Given the description of an element on the screen output the (x, y) to click on. 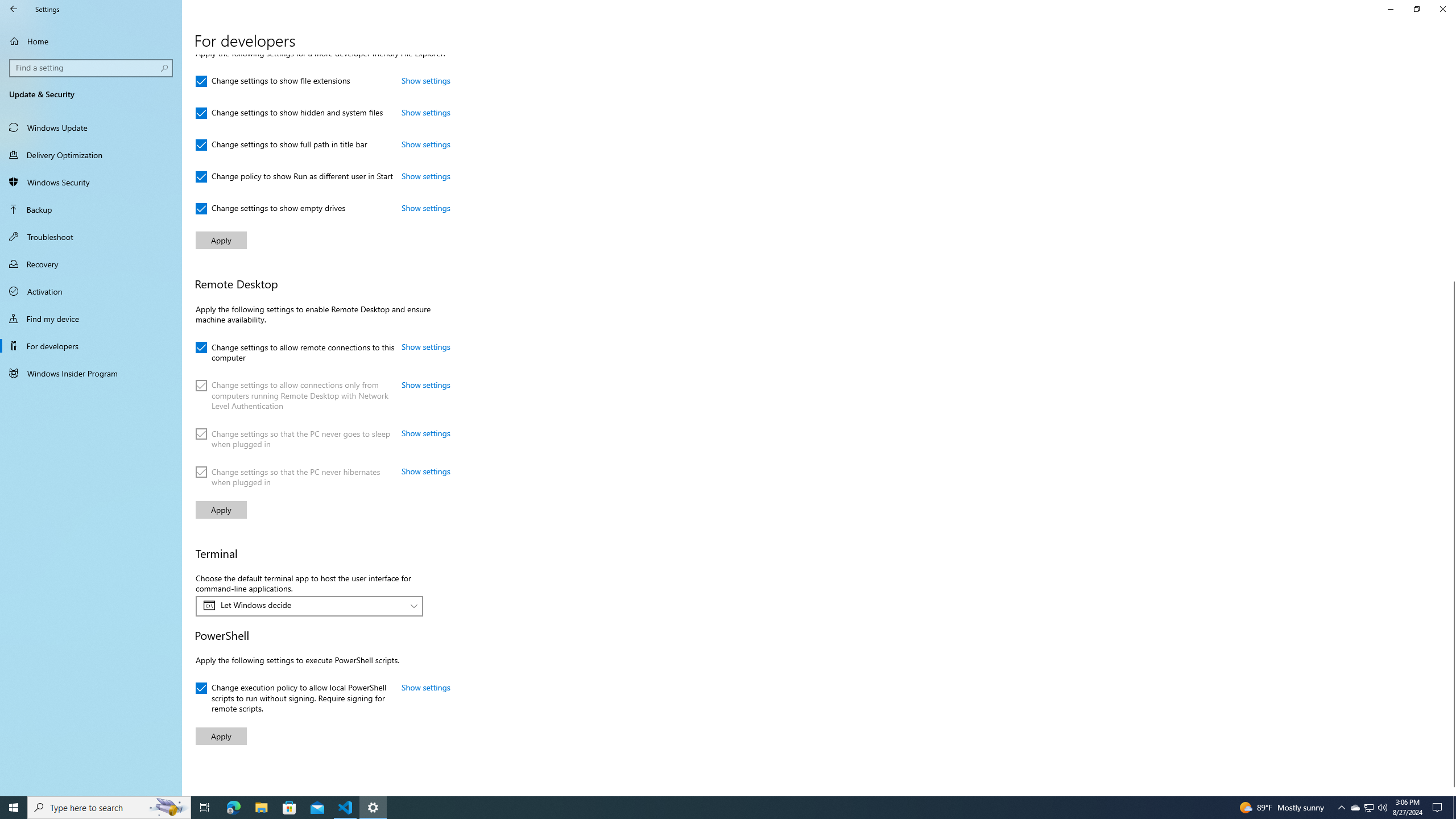
User Promoted Notification Area (1368, 807)
Settings - 1 running window (1368, 807)
Change settings to show hidden and system files (373, 807)
Task View (288, 113)
Find my device (204, 807)
Windows Security (91, 318)
Change policy to show Run as different user in Start (91, 181)
Microsoft Edge (294, 176)
For developers (233, 807)
Running applications (91, 345)
Home (717, 807)
